Given the description of an element on the screen output the (x, y) to click on. 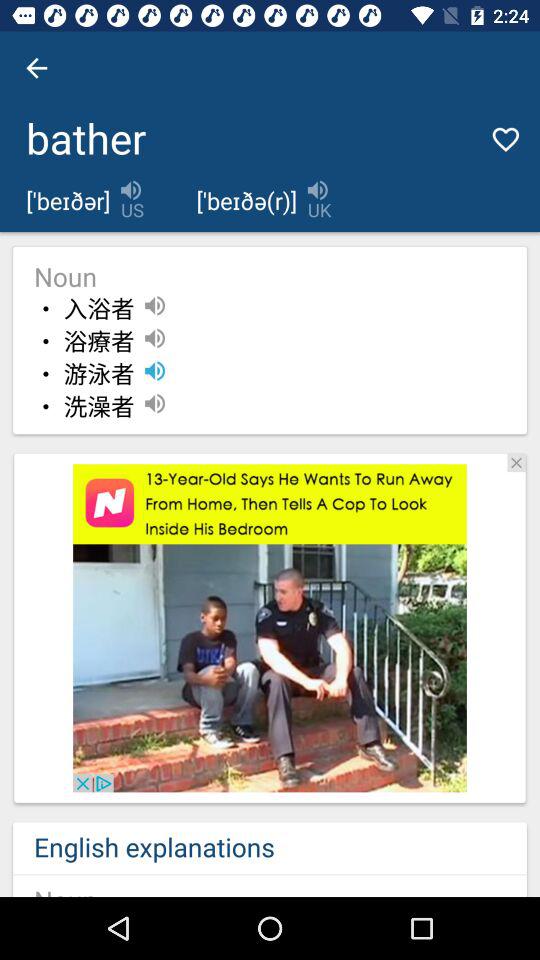
advertisement page (269, 628)
